Given the description of an element on the screen output the (x, y) to click on. 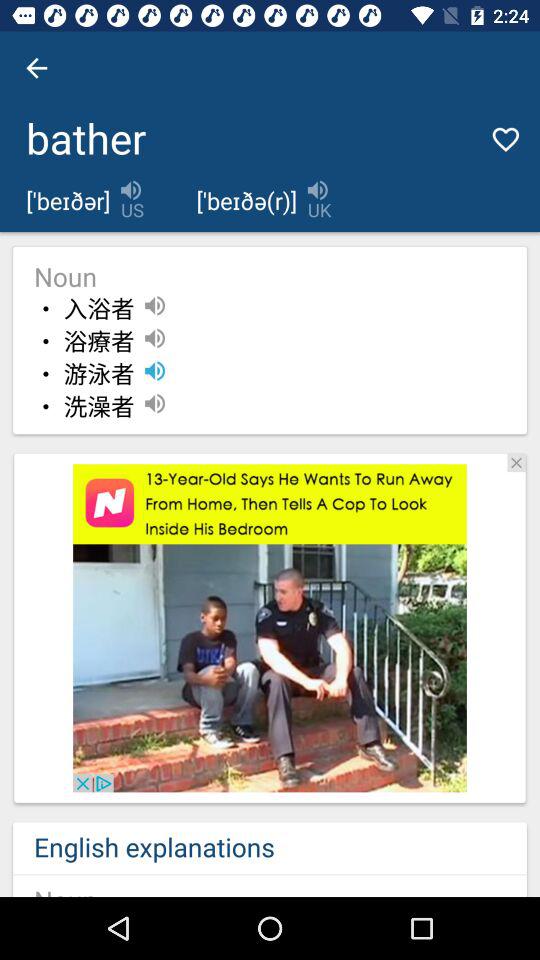
advertisement page (269, 628)
